Given the description of an element on the screen output the (x, y) to click on. 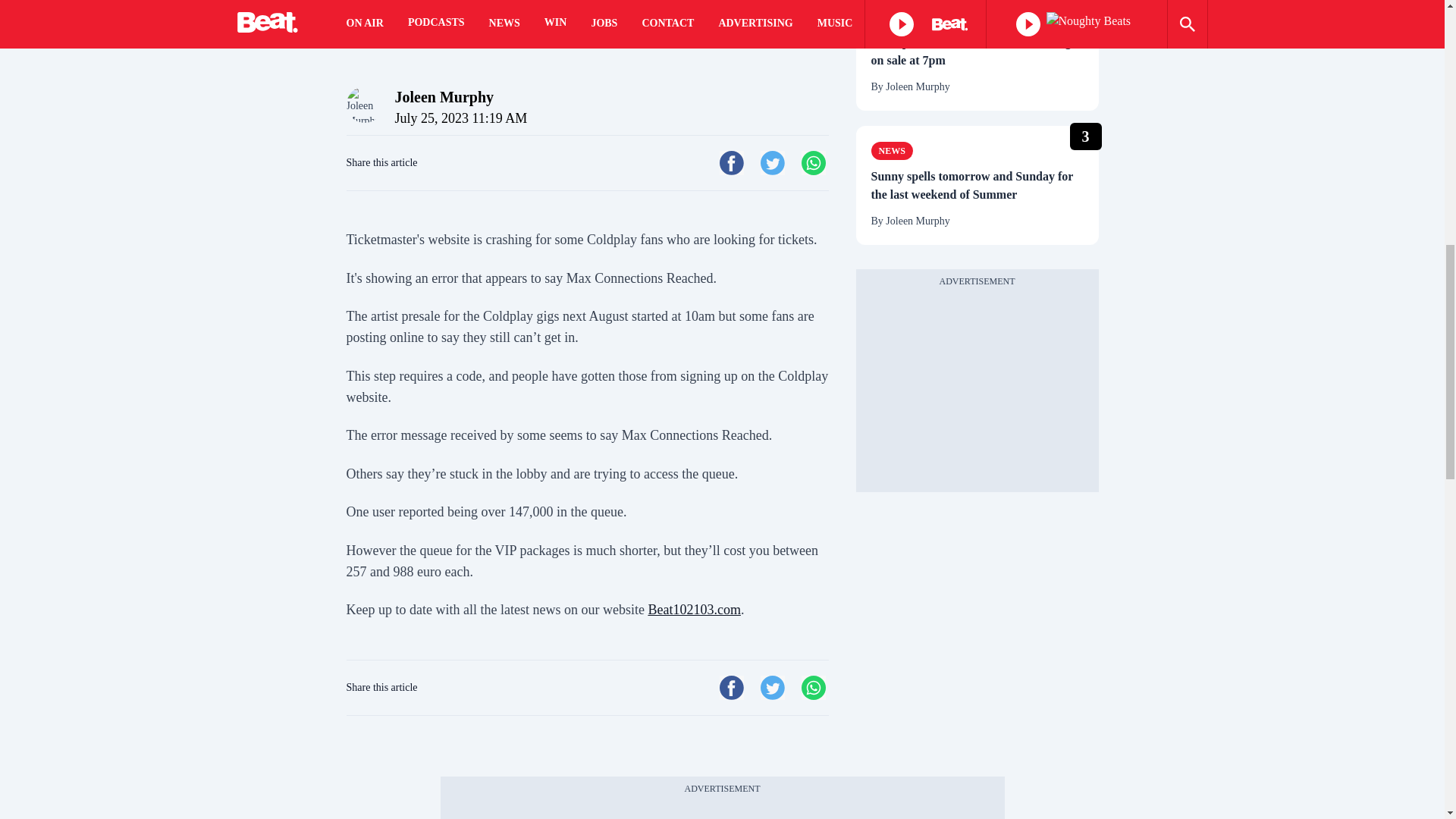
News (891, 150)
Entertainment (918, 16)
Oasis pre-sale tickets for Croke Park go on sale at 7pm (976, 51)
